Given the description of an element on the screen output the (x, y) to click on. 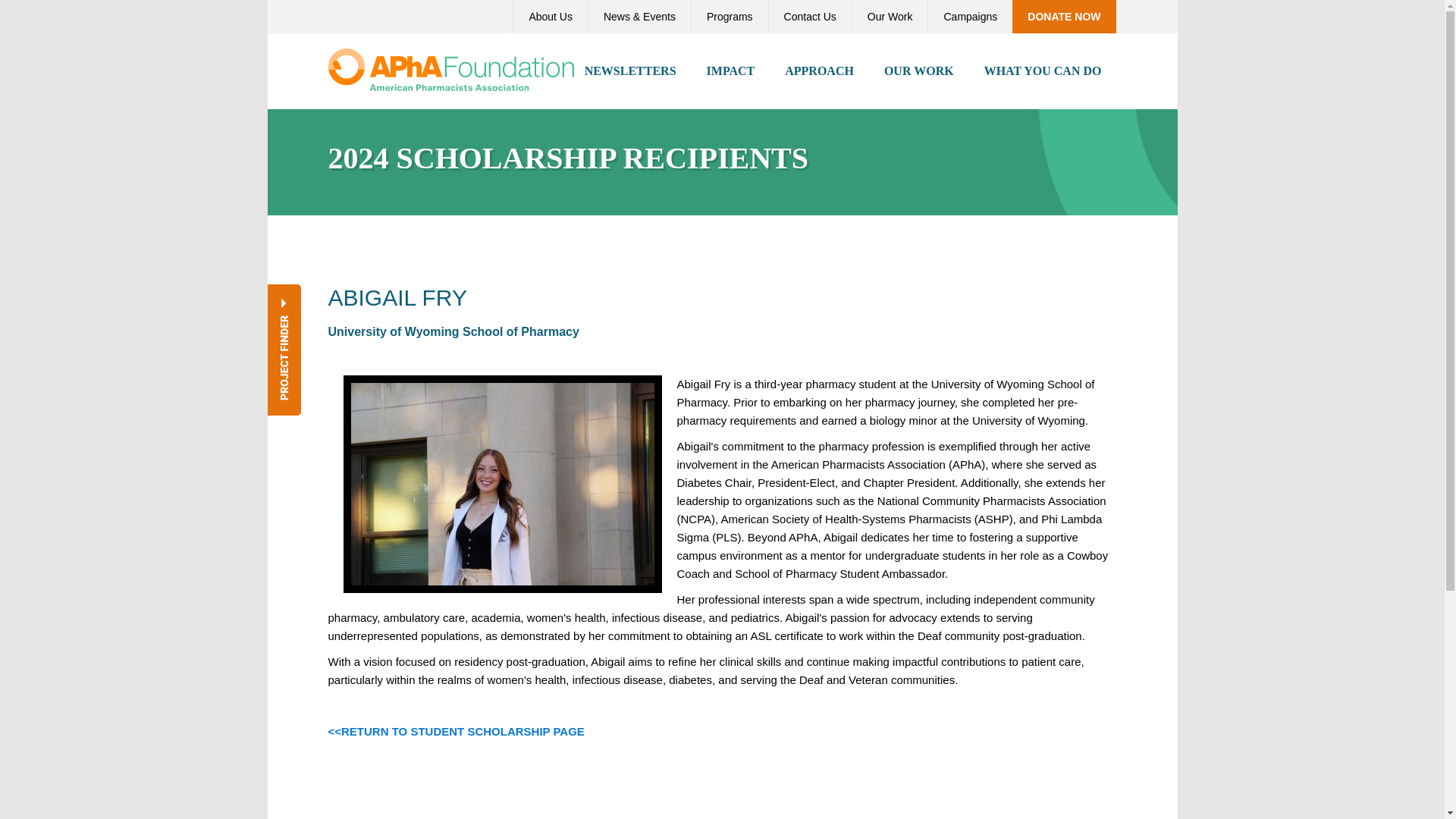
WHAT YOU CAN DO (1042, 71)
Newsletters (630, 71)
Campaigns (969, 16)
Home (450, 68)
APPROACH (819, 71)
Donate Now (1063, 16)
OUR WORK (919, 71)
Contact Us (809, 16)
Programs (729, 16)
About Us (550, 16)
